Given the description of an element on the screen output the (x, y) to click on. 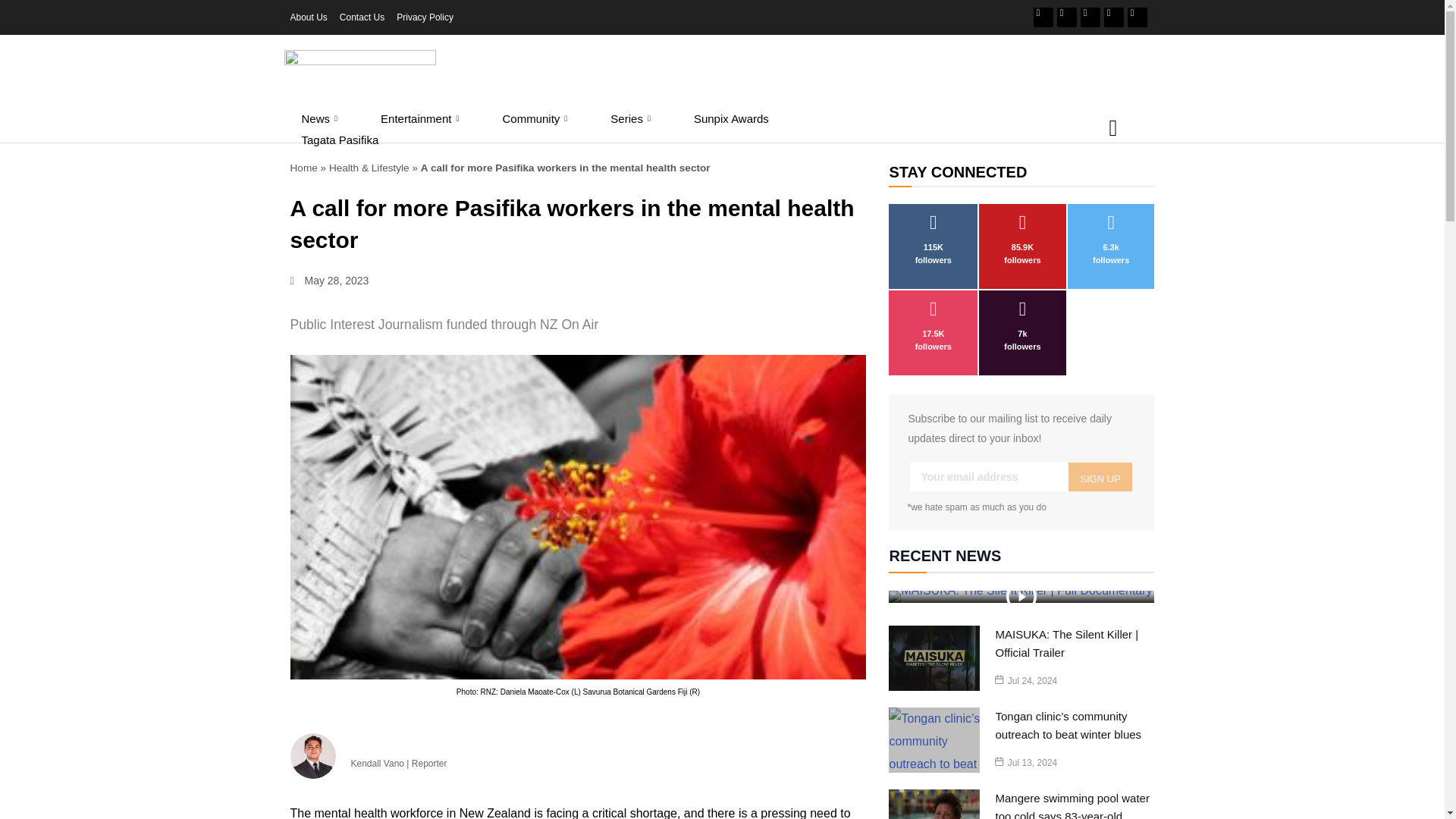
Contact Us (361, 17)
About Us (307, 17)
Privacy Policy (424, 17)
News (320, 118)
